Given the description of an element on the screen output the (x, y) to click on. 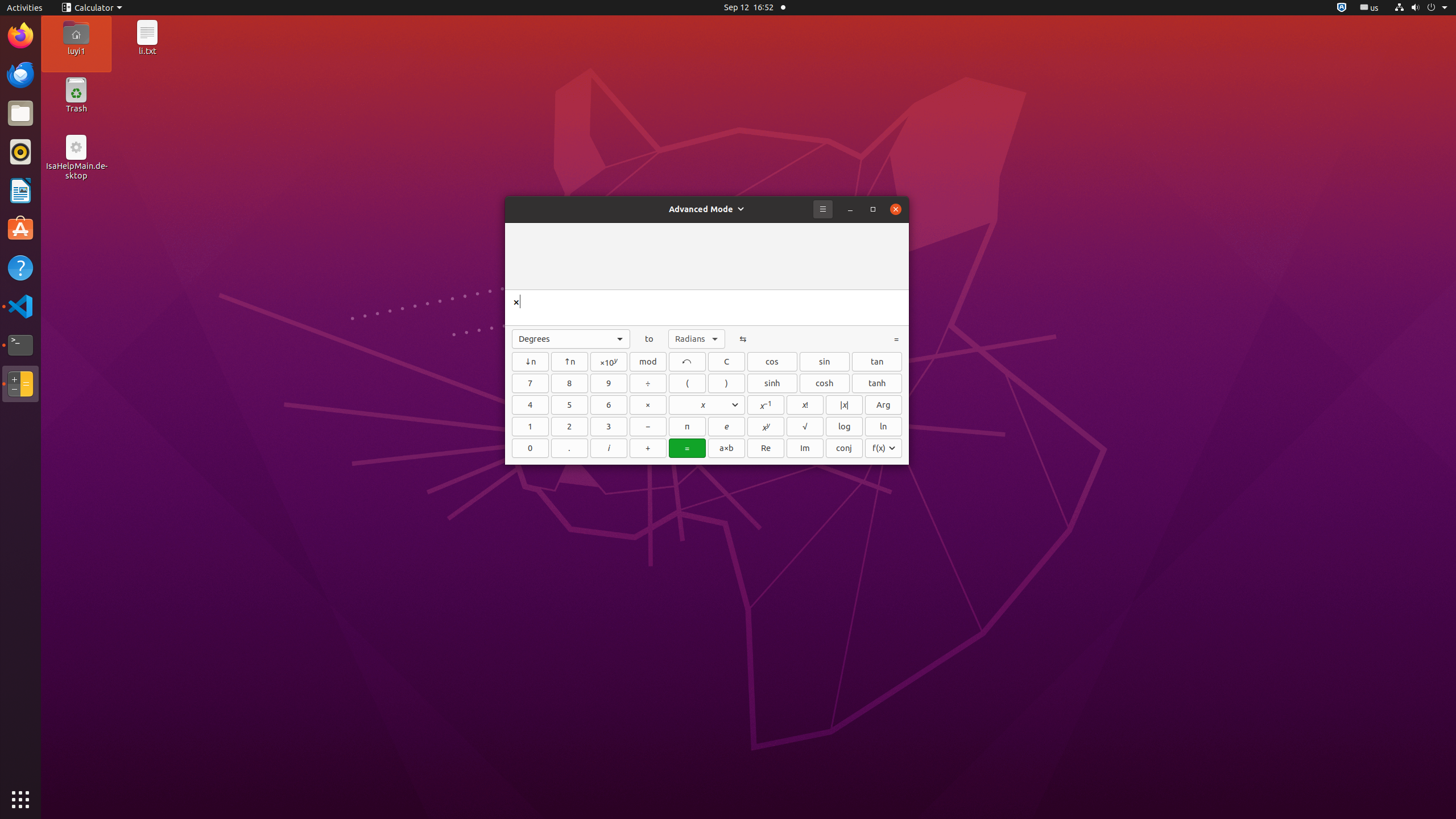
Inverse Element type: push-button (765, 404)
) Element type: push-button (726, 383)
Im Element type: push-button (804, 447)
